Given the description of an element on the screen output the (x, y) to click on. 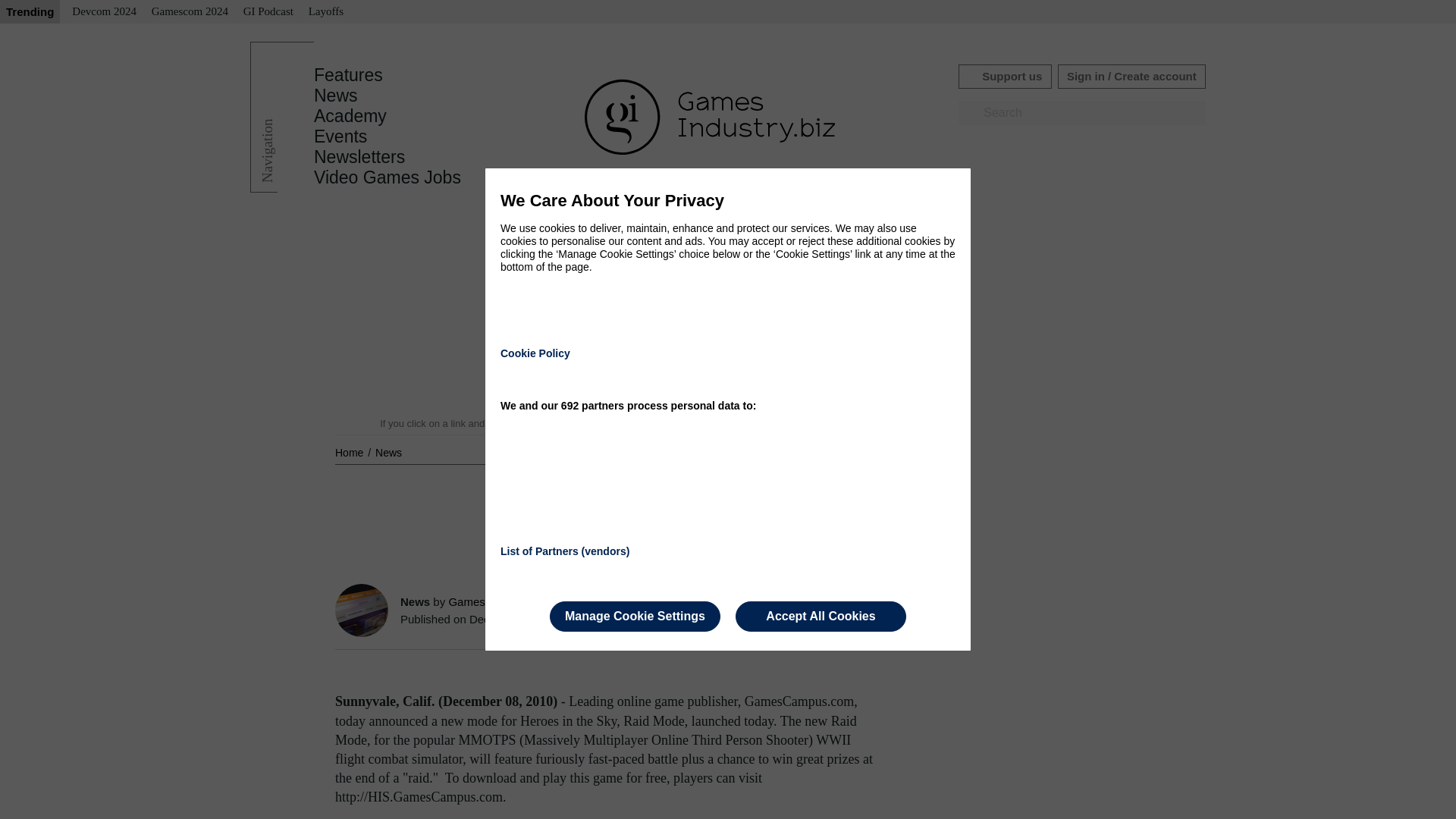
Layoffs (325, 11)
Academy (350, 116)
Newsletters (359, 157)
News (336, 95)
News (388, 452)
Video Games Jobs (387, 177)
Devcom 2024 (103, 11)
Features (348, 75)
Layoffs (325, 11)
News (388, 452)
